Given the description of an element on the screen output the (x, y) to click on. 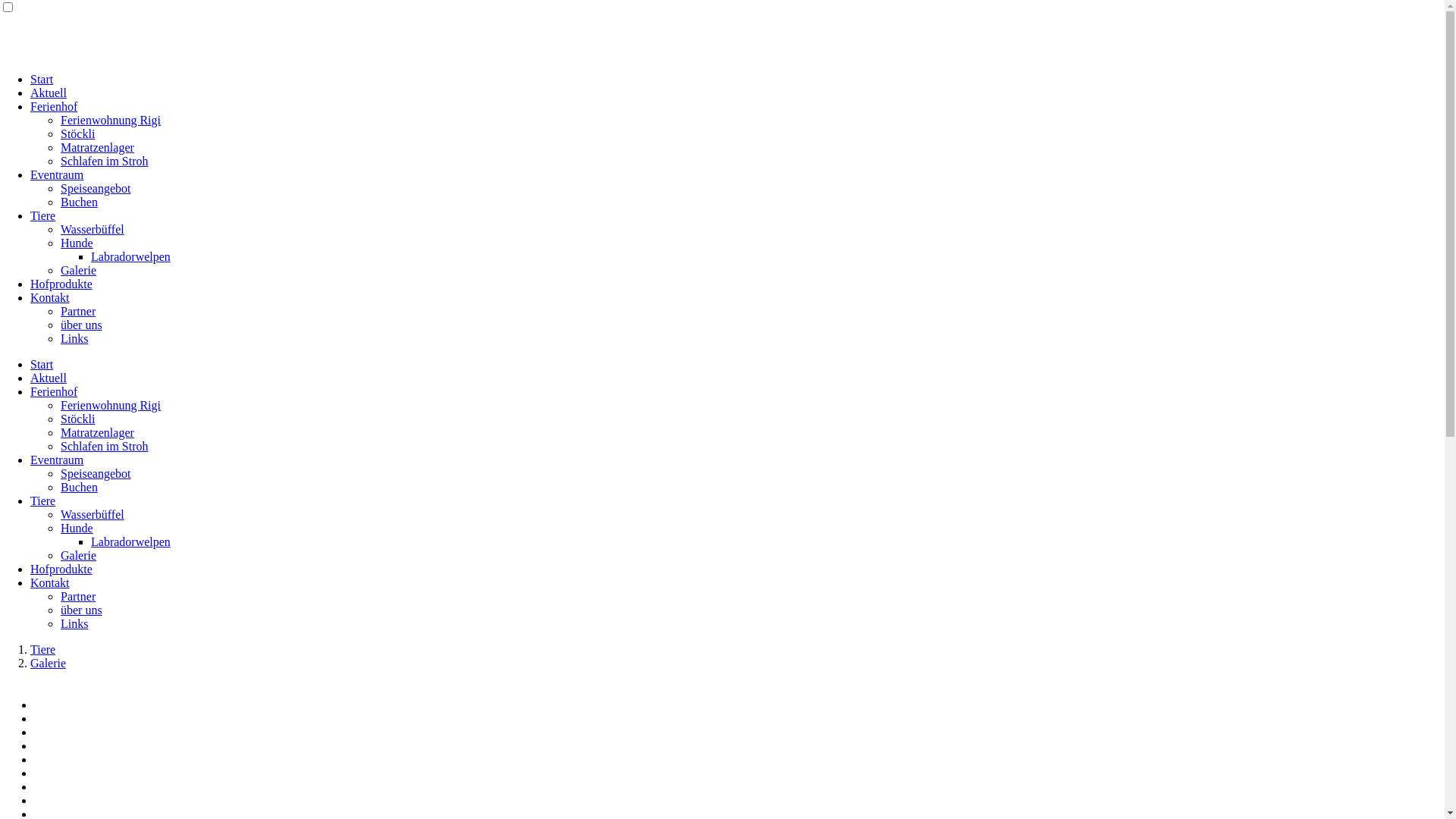
Hunde Element type: text (76, 527)
Kontakt Element type: text (49, 297)
Buchen Element type: text (78, 201)
Kontakt Element type: text (49, 582)
Eventraum Element type: text (56, 459)
Partner Element type: text (77, 595)
Labradorwelpen Element type: text (130, 541)
Ferienwohnung Rigi Element type: text (110, 119)
Tiere Element type: text (42, 500)
Eventraum Element type: text (56, 174)
Schlafen im Stroh Element type: text (104, 160)
Hunde Element type: text (76, 242)
Links Element type: text (73, 338)
Galerie Element type: text (78, 555)
Hofprodukte Element type: text (61, 568)
Tiere Element type: text (42, 649)
Galerie Element type: text (47, 662)
Hofprodukte Element type: text (61, 283)
Partner Element type: text (77, 310)
Matratzenlager Element type: text (97, 147)
Labradorwelpen Element type: text (130, 256)
Speiseangebot Element type: text (95, 473)
Matratzenlager Element type: text (97, 432)
Tiere Element type: text (42, 215)
Buchen Element type: text (78, 486)
Links Element type: text (73, 623)
Aktuell Element type: text (48, 92)
Ferienhof Element type: text (53, 106)
Start Element type: text (41, 363)
Ferienwohnung Rigi Element type: text (110, 404)
Aktuell Element type: text (48, 377)
Start Element type: text (41, 78)
Speiseangebot Element type: text (95, 188)
Schlafen im Stroh Element type: text (104, 445)
Ferienhof Element type: text (53, 391)
Galerie Element type: text (78, 269)
